Given the description of an element on the screen output the (x, y) to click on. 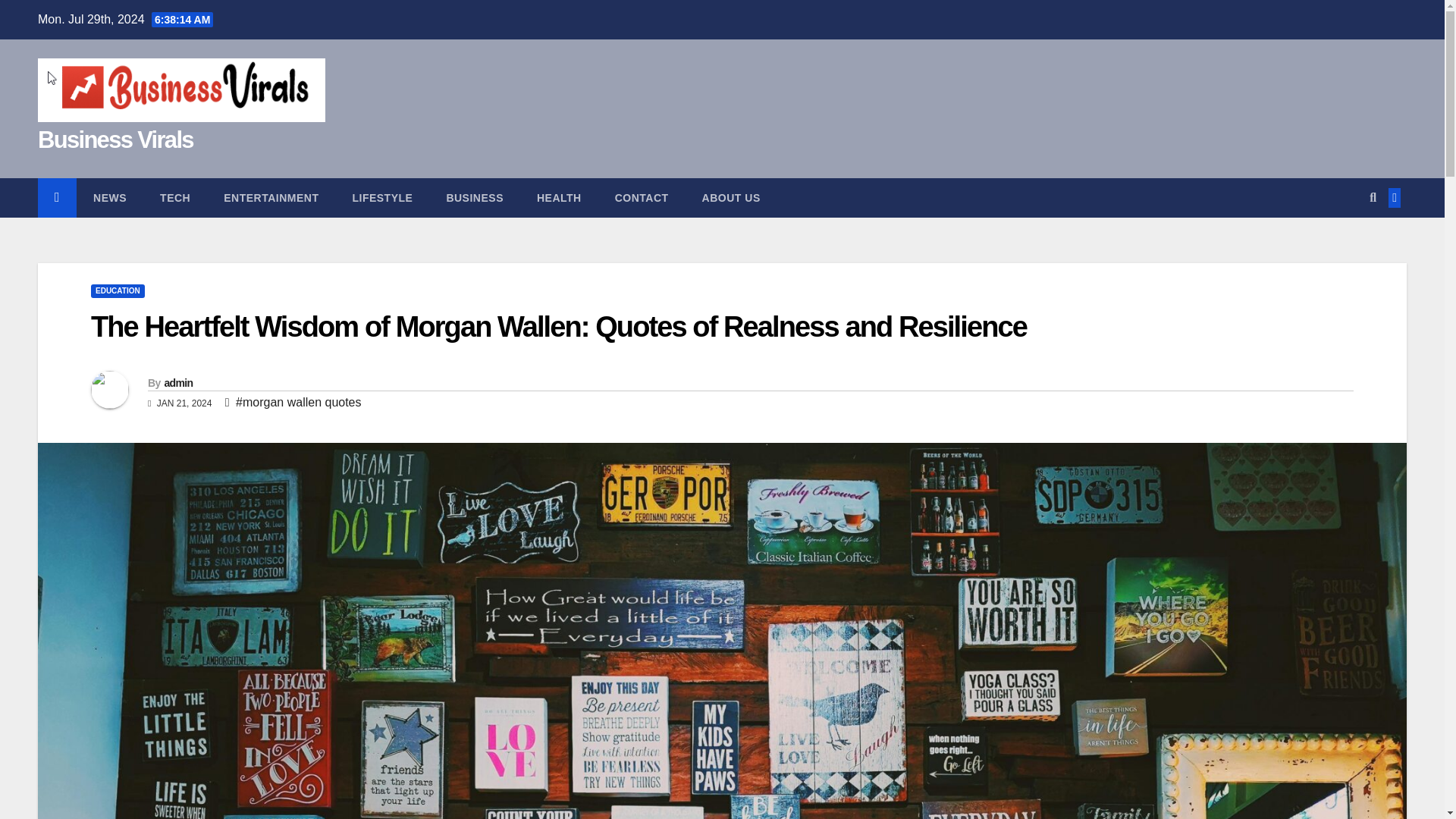
admin (177, 382)
Business (474, 197)
Entertainment (270, 197)
Contact (641, 197)
HEALTH (558, 197)
Tech (174, 197)
News (109, 197)
TECH (174, 197)
BUSINESS (474, 197)
Health (558, 197)
EDUCATION (117, 291)
ENTERTAINMENT (270, 197)
Lifestyle (381, 197)
About us (731, 197)
